Given the description of an element on the screen output the (x, y) to click on. 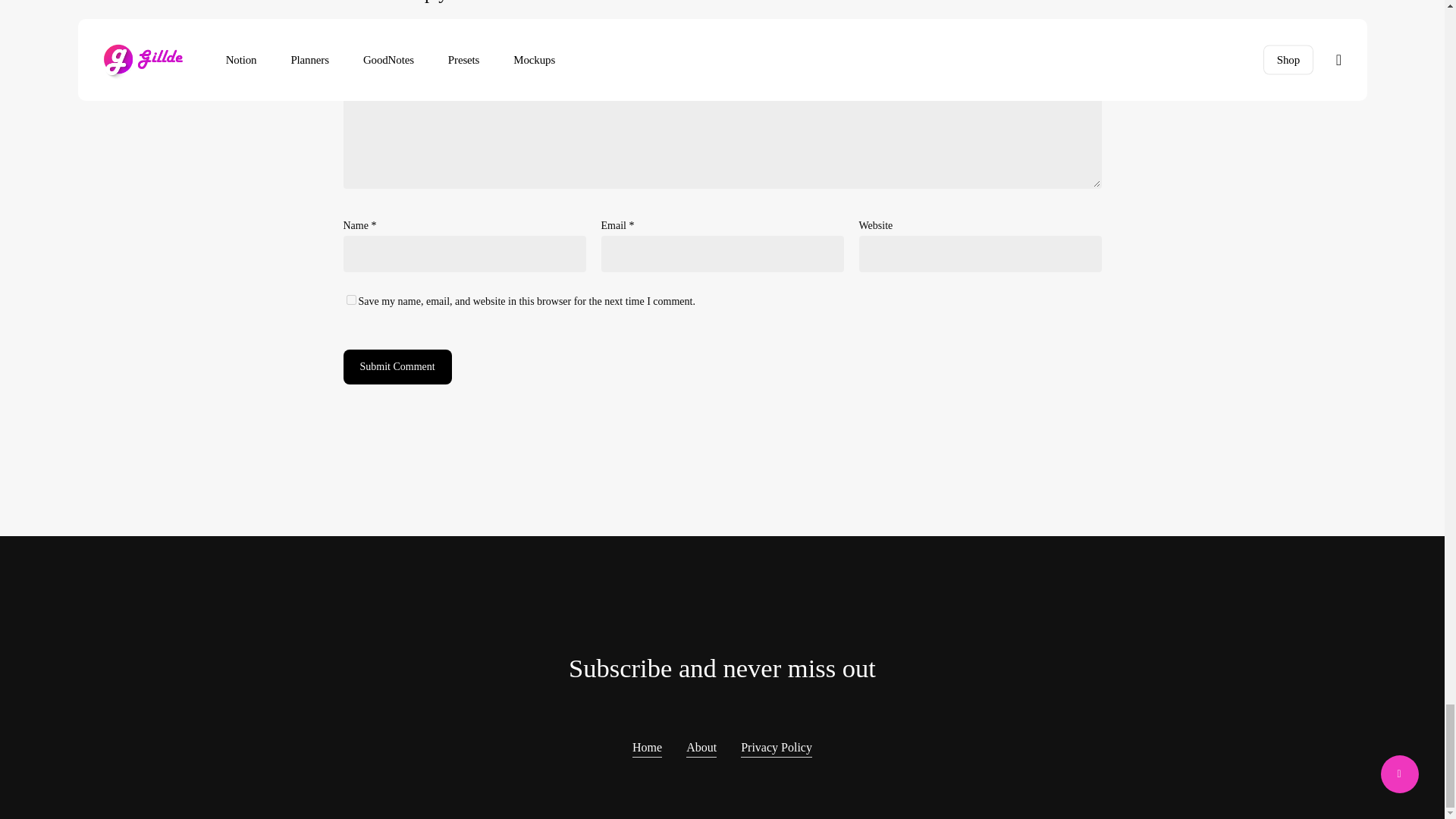
Submit Comment (396, 366)
yes (350, 299)
